Given the description of an element on the screen output the (x, y) to click on. 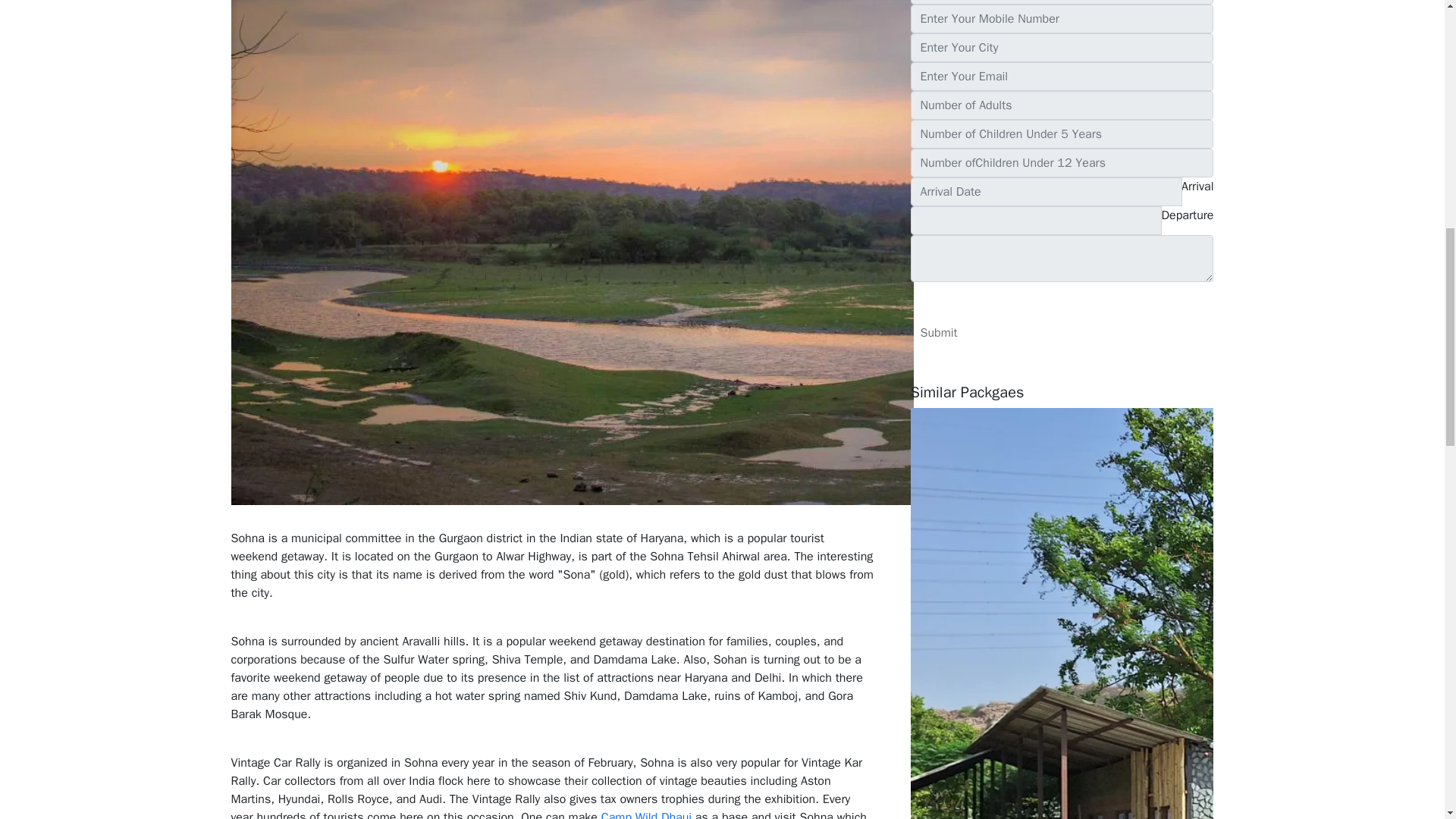
Camp Wild Dhauj  (648, 814)
Submit (938, 332)
Submit (938, 332)
